Given the description of an element on the screen output the (x, y) to click on. 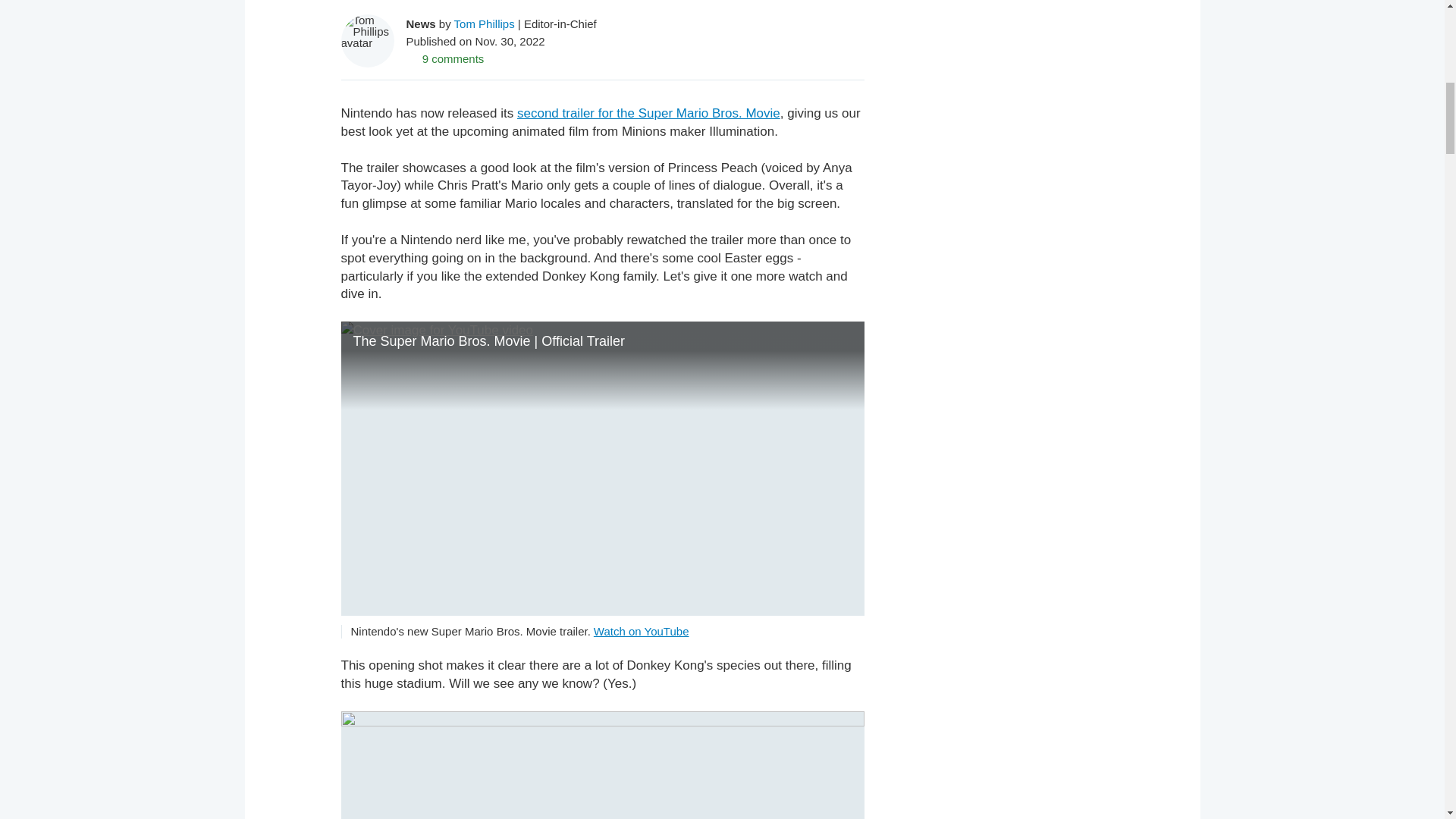
Tom Phillips (484, 22)
Watch on YouTube (641, 631)
9 comments (445, 57)
second trailer for the Super Mario Bros. Movie (648, 113)
